Given the description of an element on the screen output the (x, y) to click on. 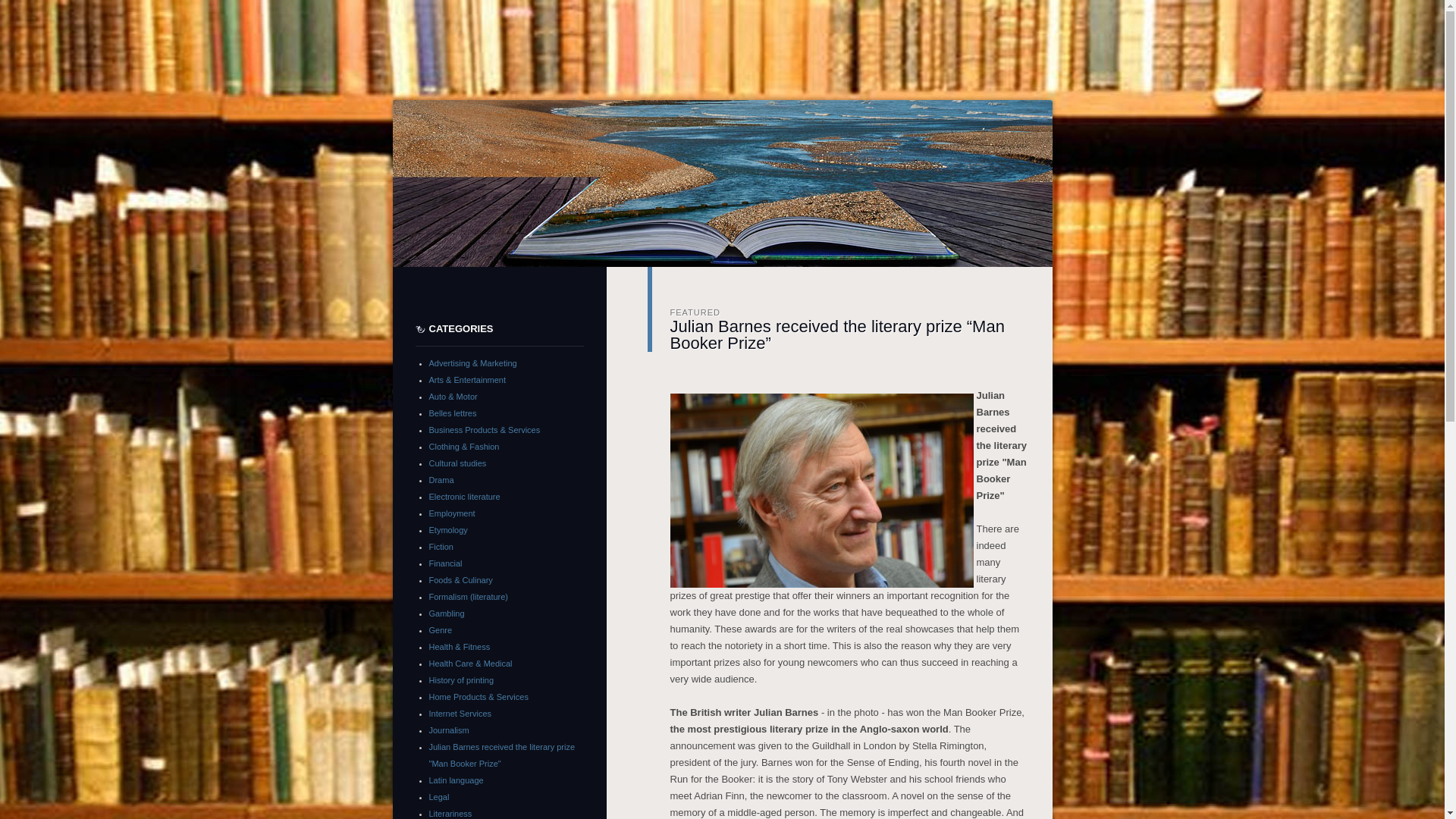
Foods & Culinary Element type: text (460, 579)
Cultural studies Element type: text (457, 462)
Literariness Element type: text (450, 813)
Clothing & Fashion Element type: text (464, 446)
Legal Element type: text (439, 796)
Health & Fitness Element type: text (459, 646)
Belles lettres Element type: text (452, 412)
Advertising & Marketing Element type: text (473, 362)
Fiction Element type: text (441, 546)
Drama Element type: text (441, 479)
Health Care & Medical Element type: text (470, 663)
Gambling Element type: text (446, 613)
Financial Element type: text (445, 562)
Literature today and in the past Element type: text (800, 119)
Latin language Element type: text (456, 779)
History of printing Element type: text (461, 679)
Employment Element type: text (452, 512)
Auto & Motor Element type: text (453, 396)
Arts & Entertainment Element type: text (467, 379)
Business Products & Services Element type: text (484, 429)
Internet Services Element type: text (460, 713)
Journalism Element type: text (449, 729)
Julian Barnes received the literary prize "Man Booker Prize" Element type: text (502, 755)
Formalism (literature) Element type: text (468, 596)
Electronic literature Element type: text (464, 496)
Etymology Element type: text (448, 529)
Genre Element type: text (440, 629)
Home Products & Services Element type: text (478, 696)
